Given the description of an element on the screen output the (x, y) to click on. 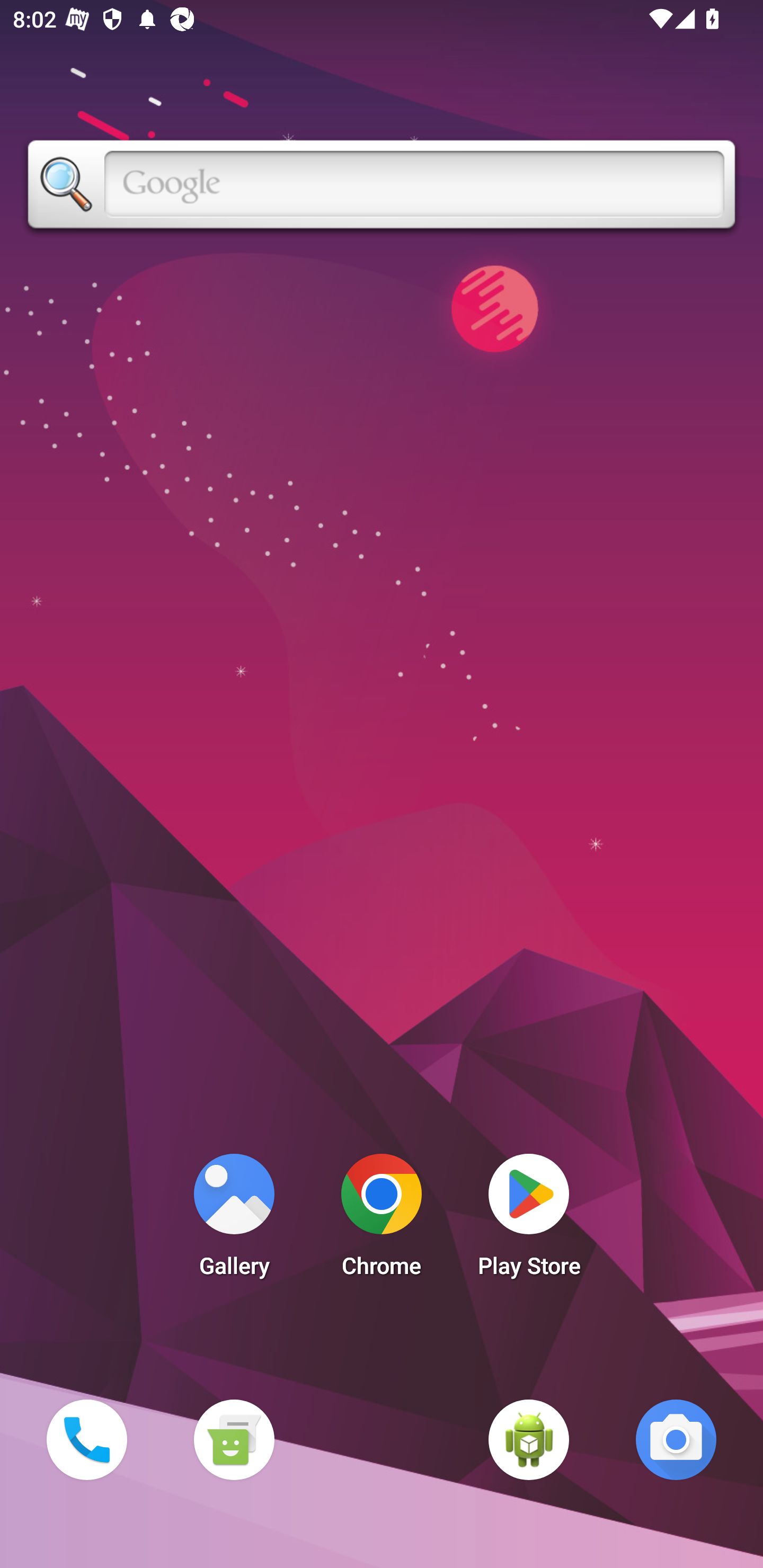
Gallery (233, 1220)
Chrome (381, 1220)
Play Store (528, 1220)
Phone (86, 1439)
Messaging (233, 1439)
WebView Browser Tester (528, 1439)
Camera (676, 1439)
